Given the description of an element on the screen output the (x, y) to click on. 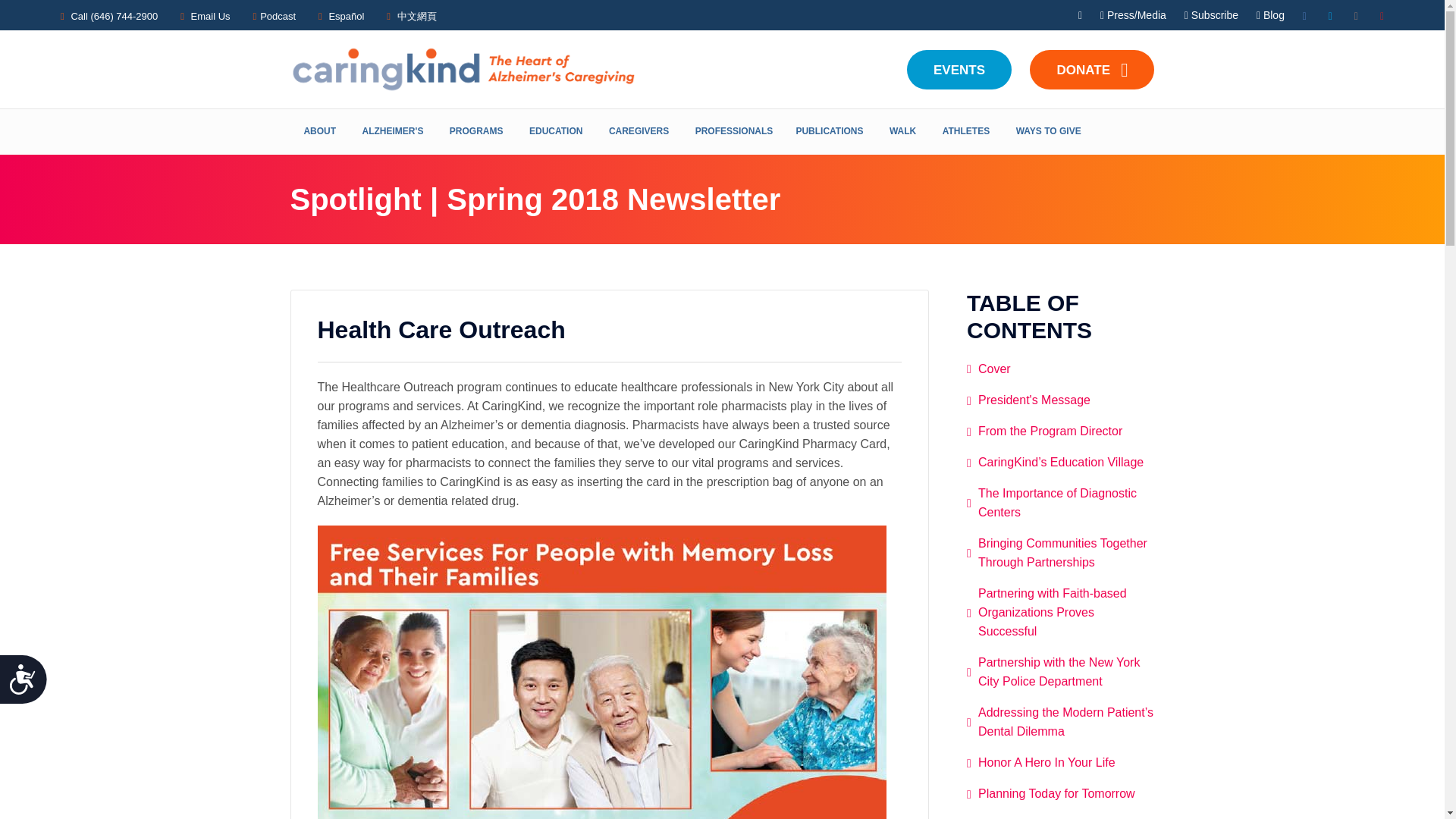
Press (1140, 15)
Partnership with the New York City Police Department (1059, 671)
The Importance of Diagnostic Centers (1057, 502)
Subscribe (1219, 15)
EVENTS (959, 69)
Blog (1270, 15)
DONATE   (1091, 69)
Email Us (210, 16)
Blog (1270, 15)
ACCESSIBILITY (29, 685)
From the Program Director (1050, 431)
Honor A Hero In Your Life (1046, 762)
Partnering with Faith-based Organizations Proves Successful (1052, 612)
President's Message (1034, 399)
Spring 2018 Newsletter (994, 368)
